Given the description of an element on the screen output the (x, y) to click on. 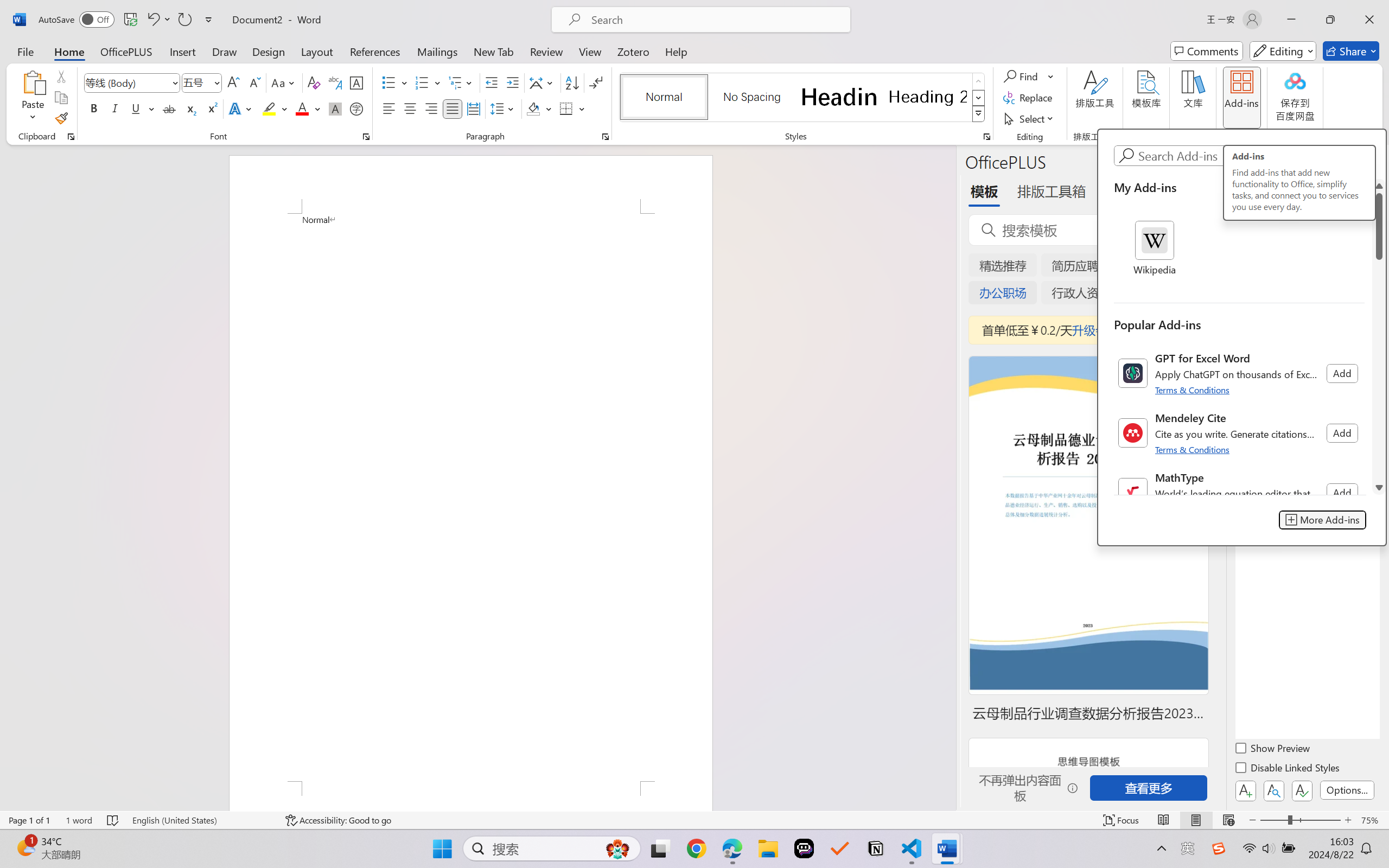
Focus  (1121, 819)
Line down (1379, 487)
Borders (571, 108)
Bullets (388, 82)
Class: Image (1218, 847)
View (589, 51)
Font Color Red (302, 108)
Text Highlight Color (274, 108)
Class: Net UI Tool Window (1241, 336)
Print Layout (1196, 819)
Show/Hide Editing Marks (595, 82)
Heading 1 (839, 96)
File Tab (24, 51)
